Given the description of an element on the screen output the (x, y) to click on. 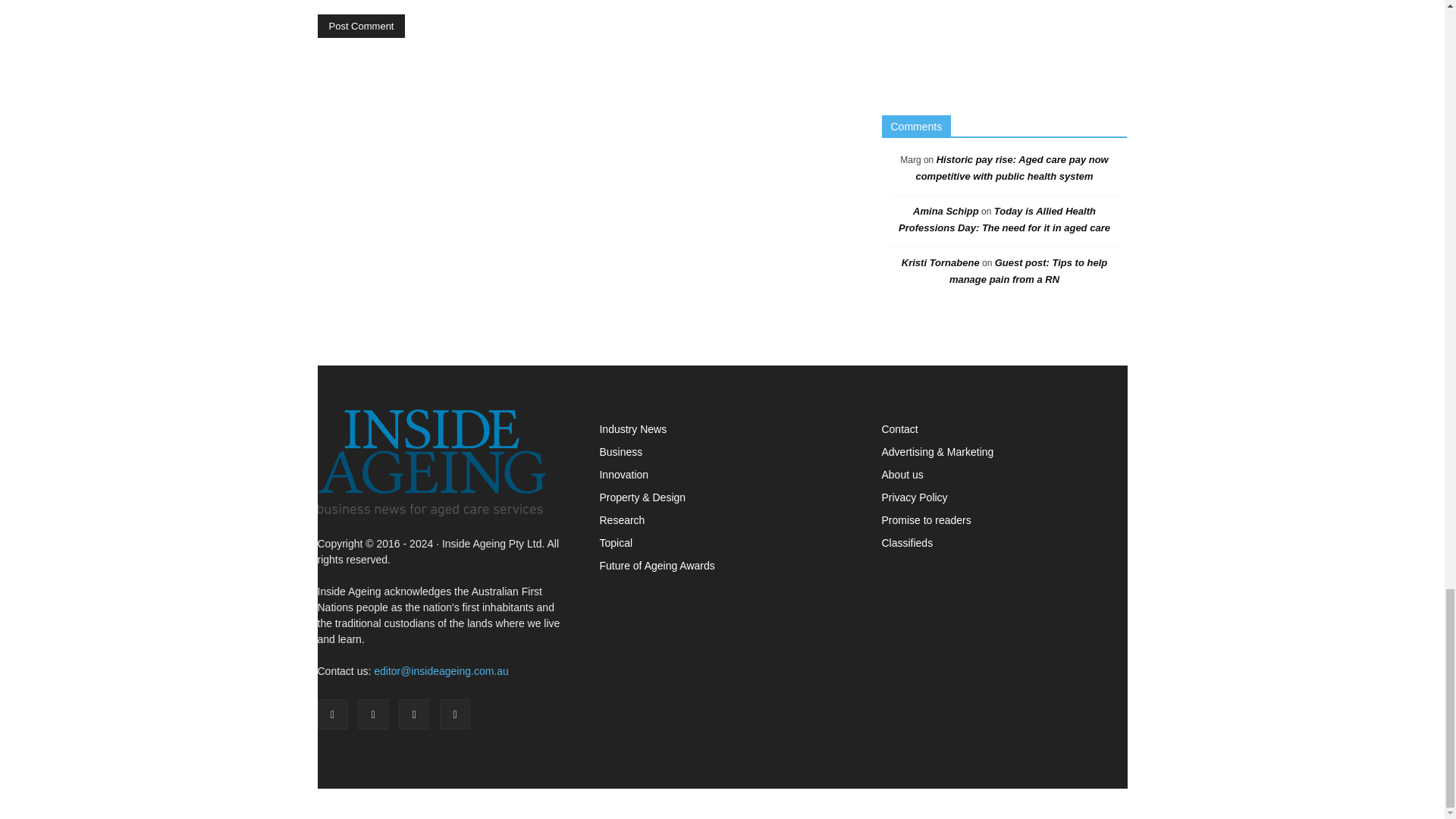
Post Comment (360, 25)
